Given the description of an element on the screen output the (x, y) to click on. 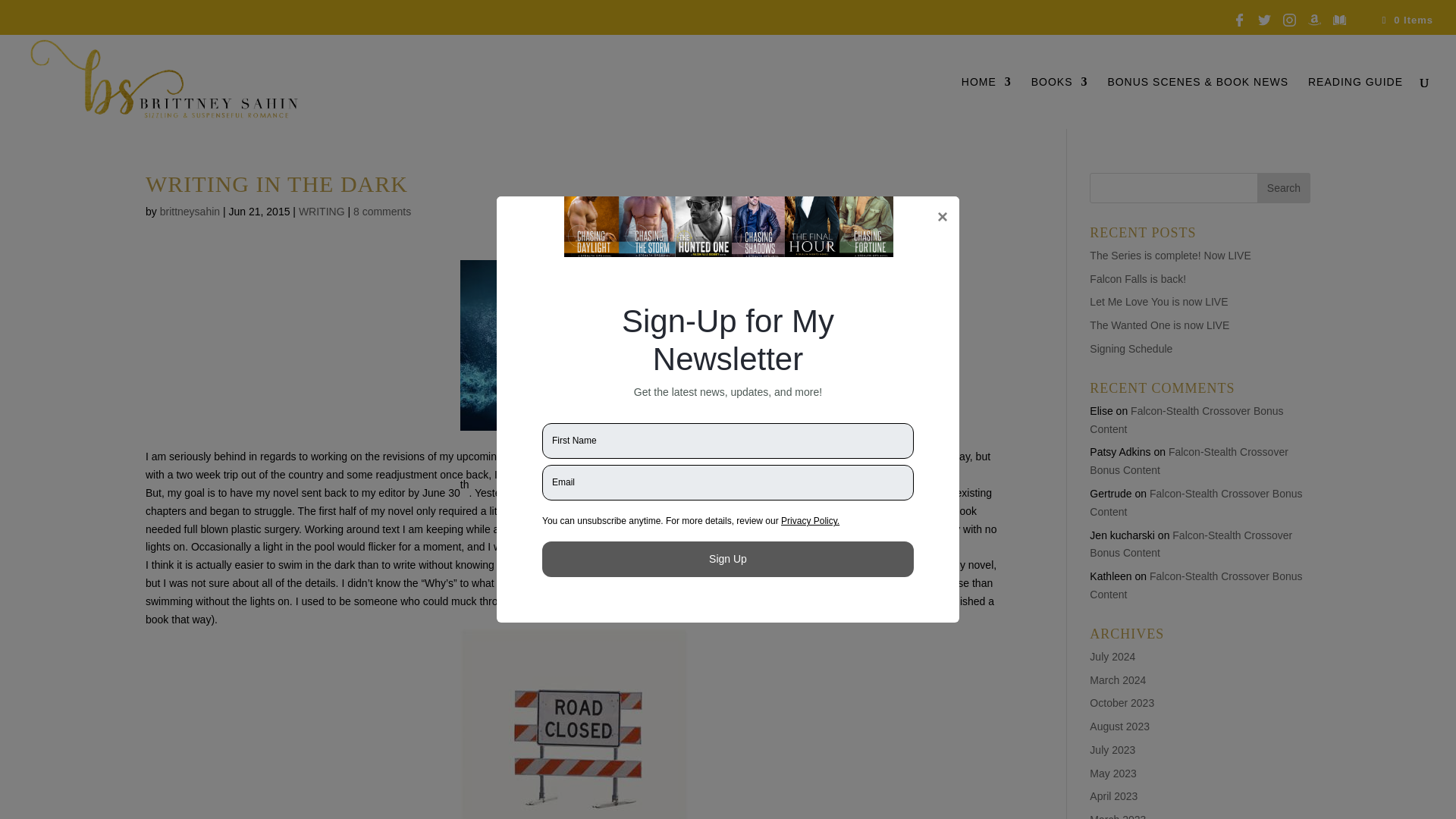
Instagram (1288, 29)
Amazon (1313, 19)
Amazon (1313, 29)
Goodreads (1339, 19)
READING GUIDE (1355, 102)
Goodreads (1339, 29)
Instagram (1288, 19)
Twitter (1264, 29)
0 Items (1405, 19)
Facebook (1239, 29)
Twitter (1264, 19)
Posts by brittneysahin (189, 211)
Facebook (1239, 19)
Search (1283, 187)
BOOKS (1058, 102)
